Given the description of an element on the screen output the (x, y) to click on. 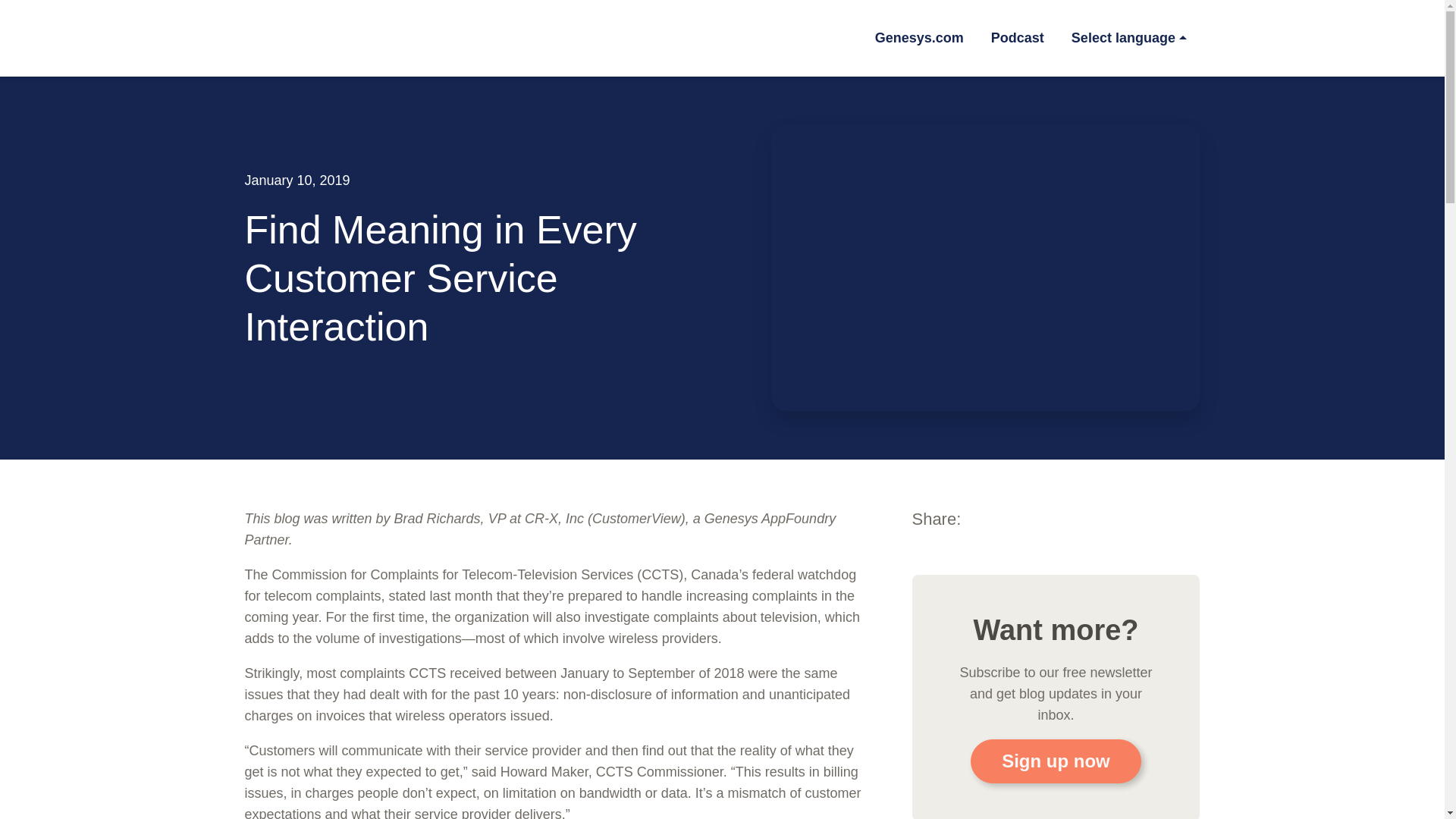
Sign up now (1056, 760)
Genesys.com (918, 38)
Select language (1128, 38)
Podcast (1017, 38)
Sign up now (1056, 760)
